Given the description of an element on the screen output the (x, y) to click on. 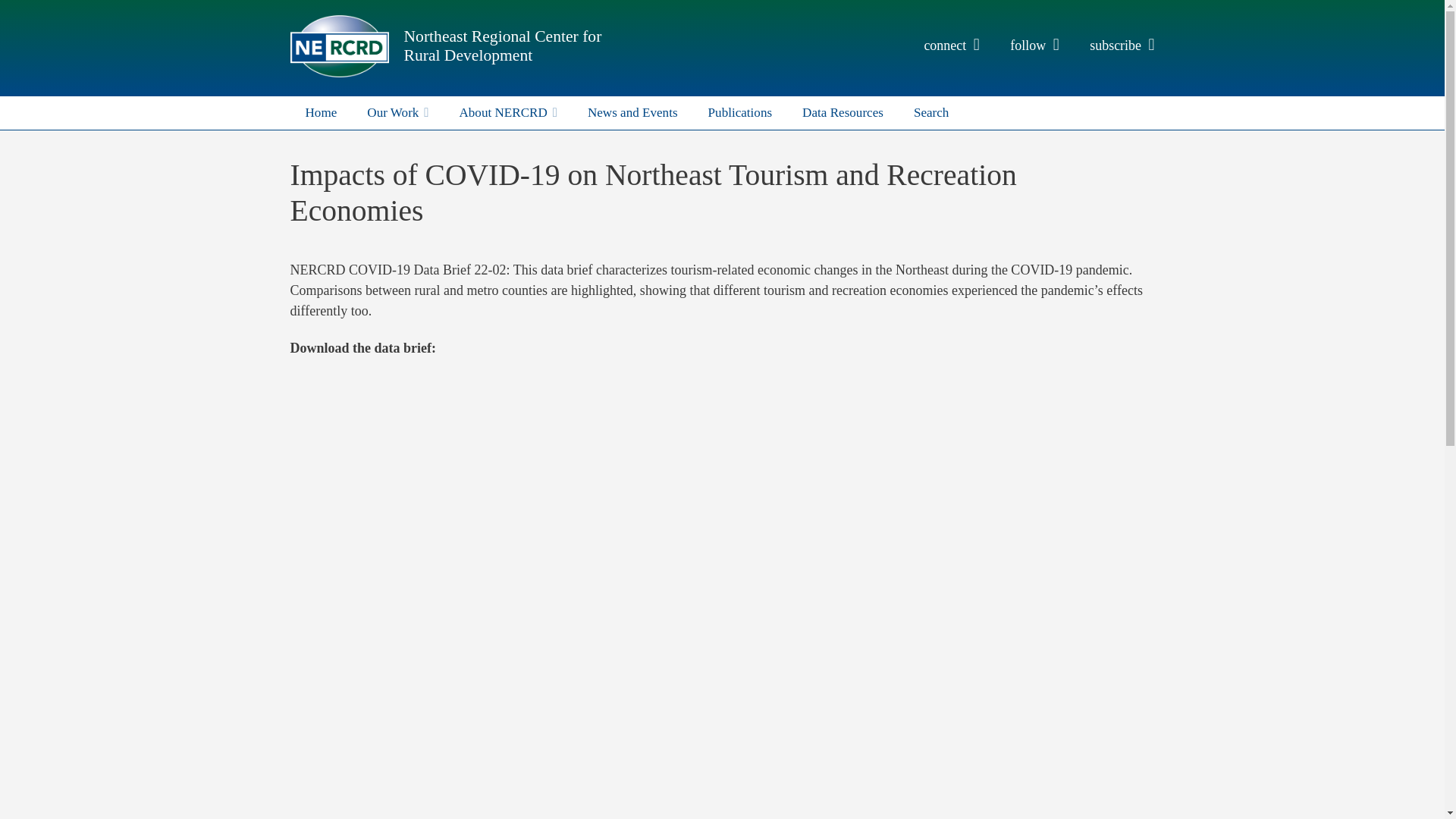
Our Work (398, 112)
Search (930, 112)
Home (320, 112)
News and Events (632, 112)
Data Resources (842, 112)
Publications (740, 112)
connect (950, 45)
follow (1034, 45)
About NERCRD (508, 112)
subscribe (1121, 45)
Northeast Regional Center for Rural Development (502, 45)
